Given the description of an element on the screen output the (x, y) to click on. 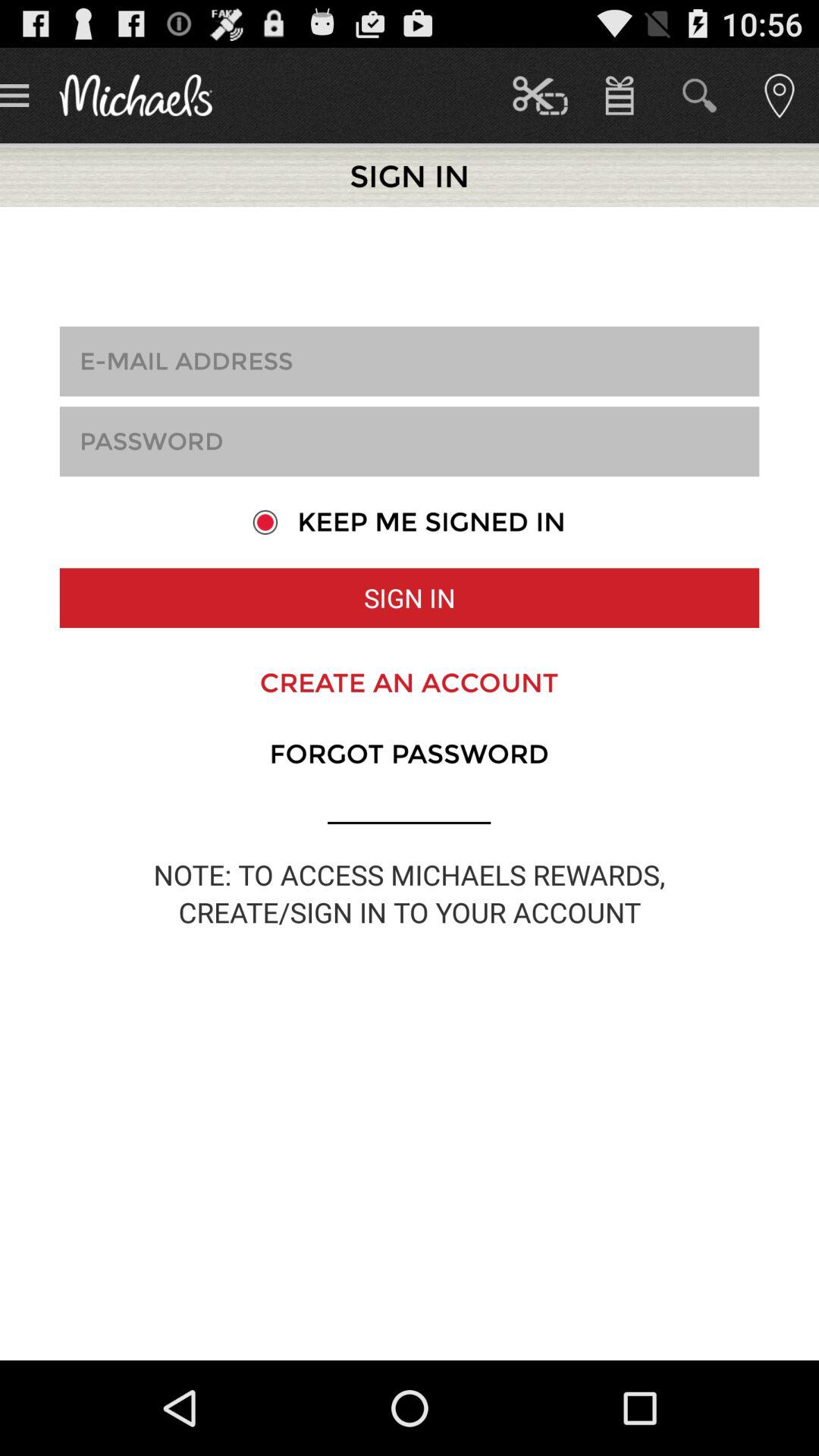
launch the item below create an account icon (408, 753)
